Given the description of an element on the screen output the (x, y) to click on. 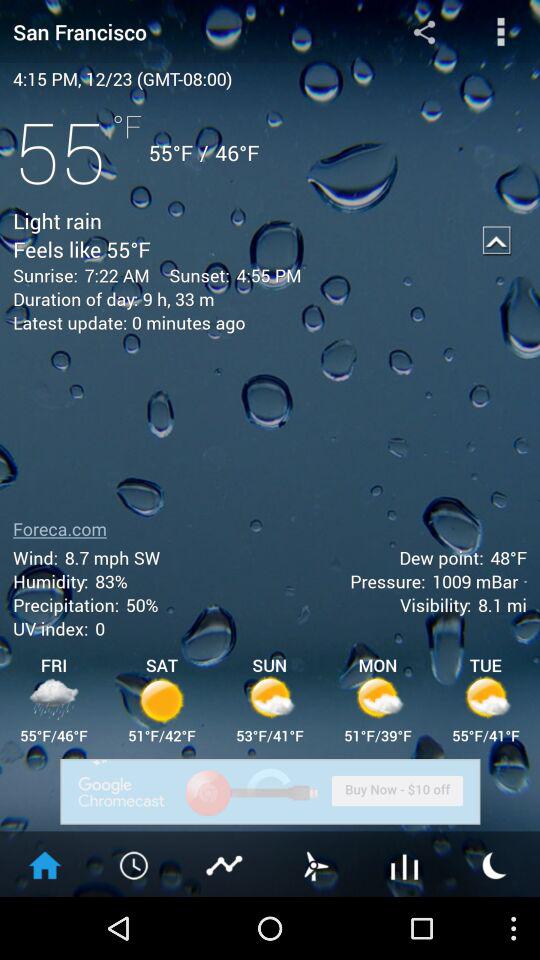
share weather page (424, 31)
